Given the description of an element on the screen output the (x, y) to click on. 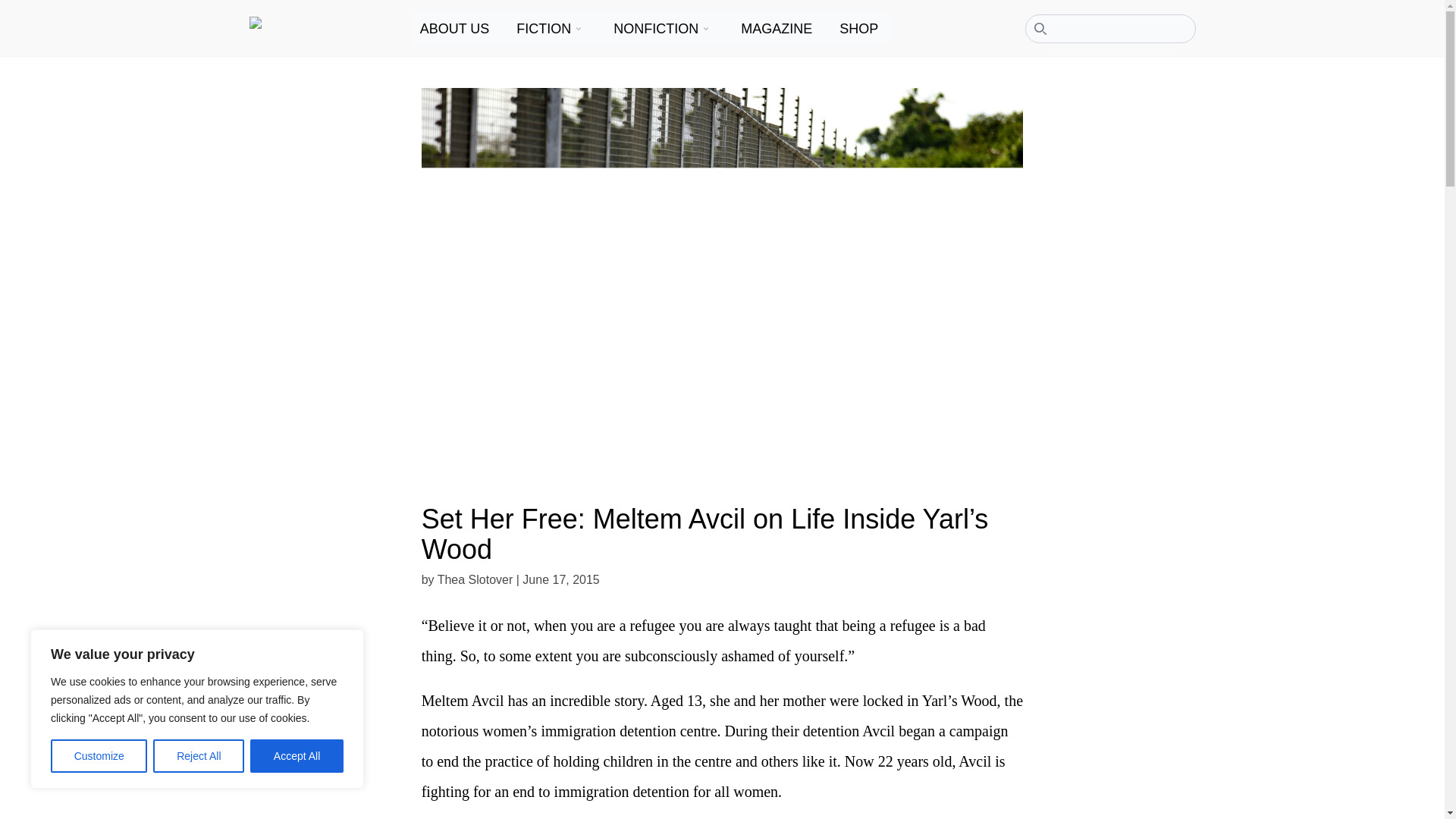
Customize (98, 756)
Accept All (296, 756)
NONFICTION (658, 28)
Thea Slotover (475, 579)
ABOUT US (456, 28)
SHOP (859, 28)
Reject All (198, 756)
FICTION (546, 28)
MAGAZINE (778, 28)
